Given the description of an element on the screen output the (x, y) to click on. 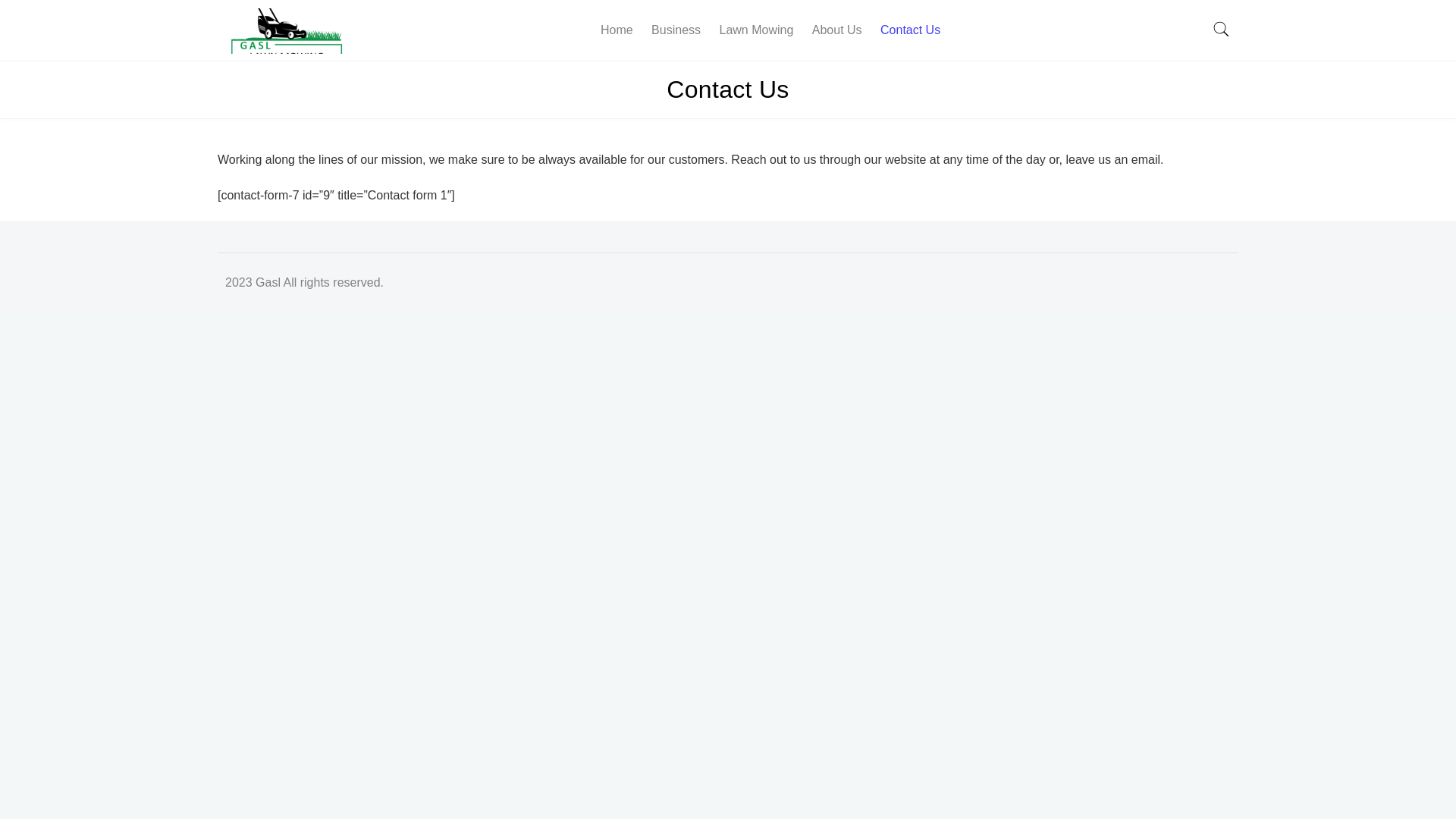
About Us Element type: text (836, 30)
Business Element type: text (675, 30)
Lawn Mowing Element type: text (755, 30)
Home Element type: text (616, 30)
Contact Us Element type: text (909, 30)
